Given the description of an element on the screen output the (x, y) to click on. 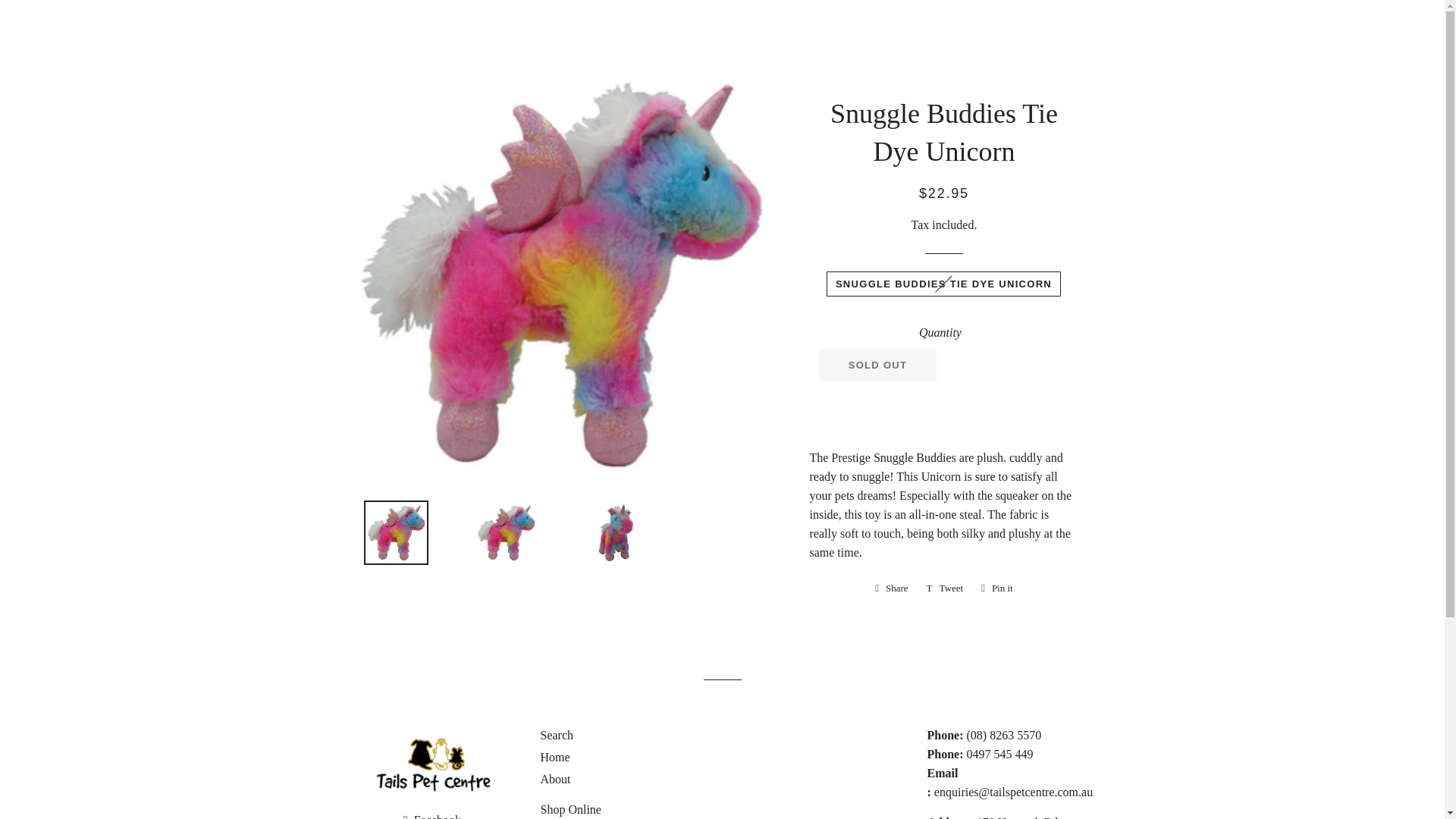
Pin on Pinterest (997, 588)
Tweet on Twitter (944, 588)
Tails Pet Centre on Facebook (432, 816)
Share on Facebook (891, 588)
